Given the description of an element on the screen output the (x, y) to click on. 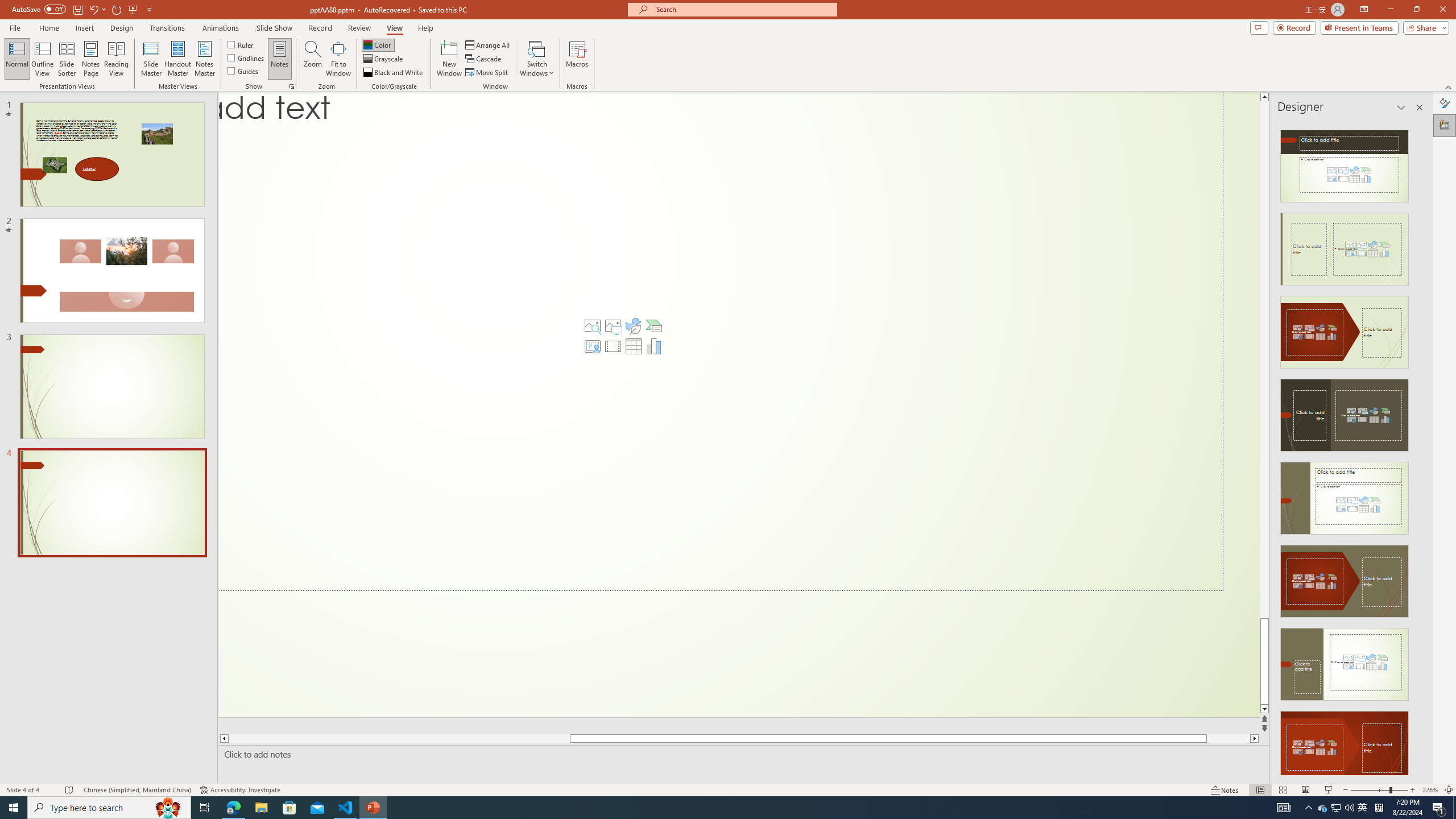
Insert Cameo (592, 346)
Stock Images (592, 325)
Switch Windows (537, 58)
Insert Chart (653, 346)
Slide Master (151, 58)
Zoom... (312, 58)
Grid Settings... (291, 85)
